Given the description of an element on the screen output the (x, y) to click on. 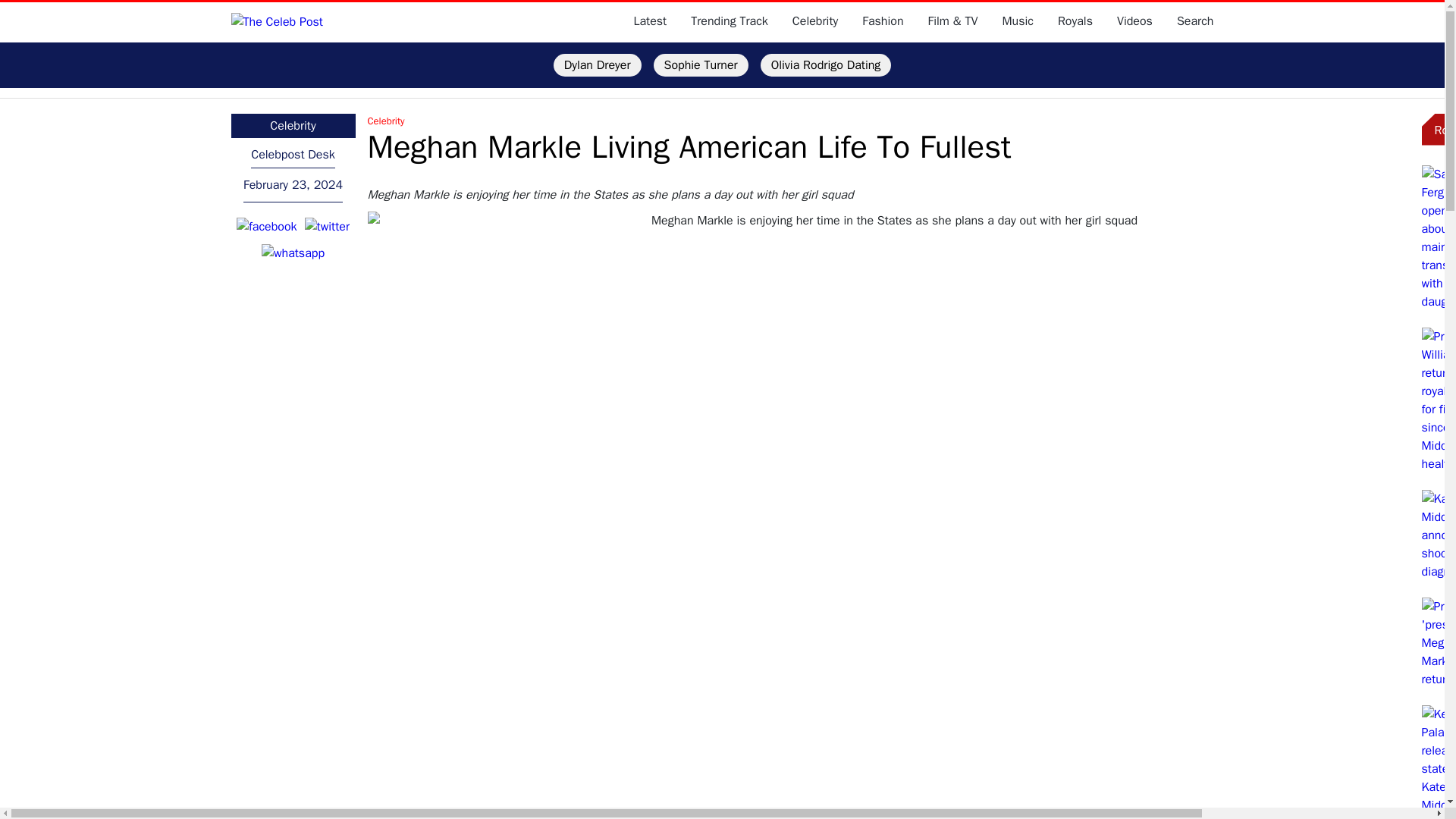
Fashion (881, 21)
Celebrity (815, 21)
Videos (1134, 21)
Fashion (881, 21)
Music (1017, 21)
Royals (1075, 21)
Latest Stories (649, 21)
Celebrity (887, 120)
Trending Track (729, 21)
Search (1195, 21)
Royals (1075, 21)
Search (1195, 21)
Trending Track (729, 21)
The Celeb Post (275, 21)
Celebpost Desk (292, 154)
